Given the description of an element on the screen output the (x, y) to click on. 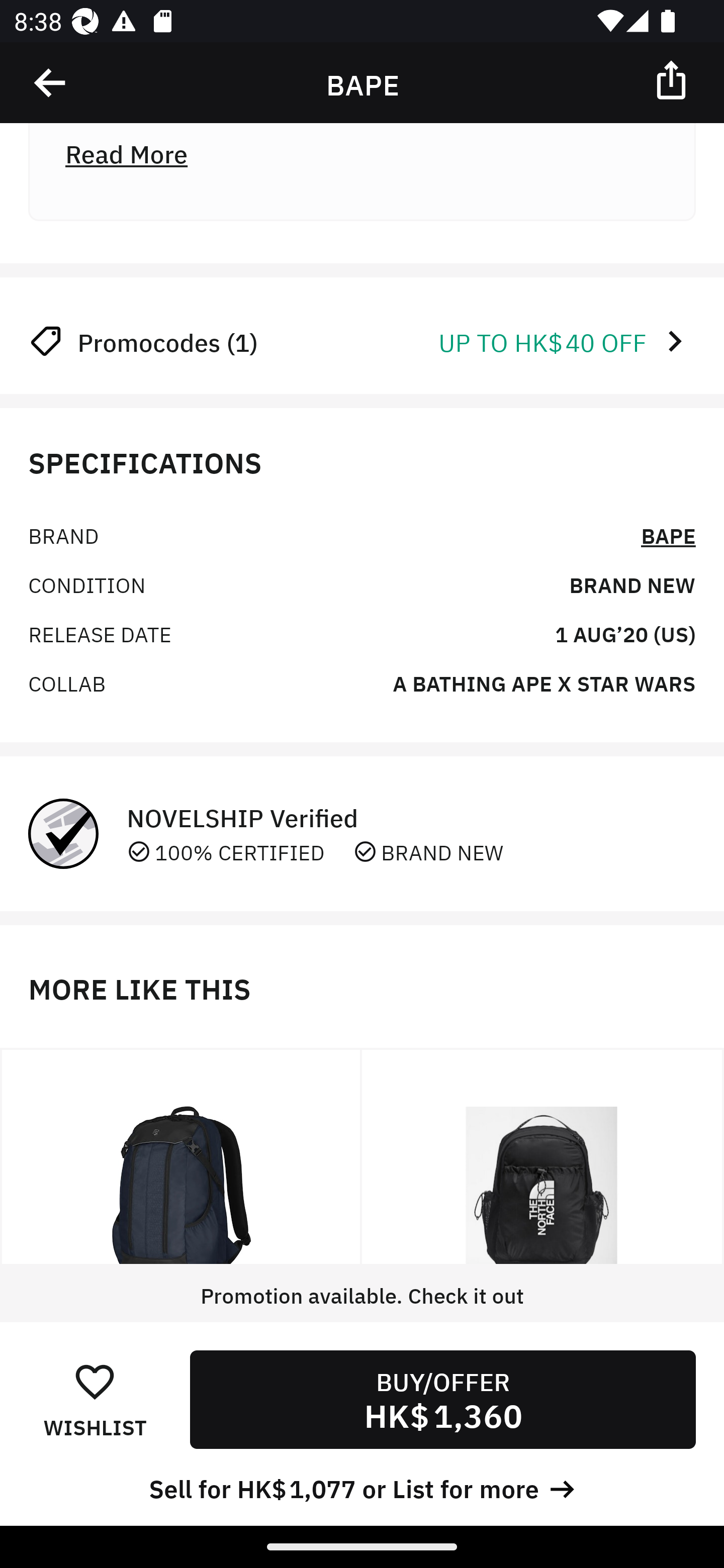
 (50, 83)
 (672, 79)
Promocodes (1) UP TO HK$ 40 OFF  (361, 340)
BAPE (667, 534)
BRAND NEW (632, 584)
1 AUG’20 (US) (625, 633)
A BATHING APE X STAR WARS (543, 681)
BUY/OFFER HK$ 1,360 (442, 1399)
󰋕 (94, 1380)
Sell for HK$ 1,077 or List for more (361, 1486)
